Given the description of an element on the screen output the (x, y) to click on. 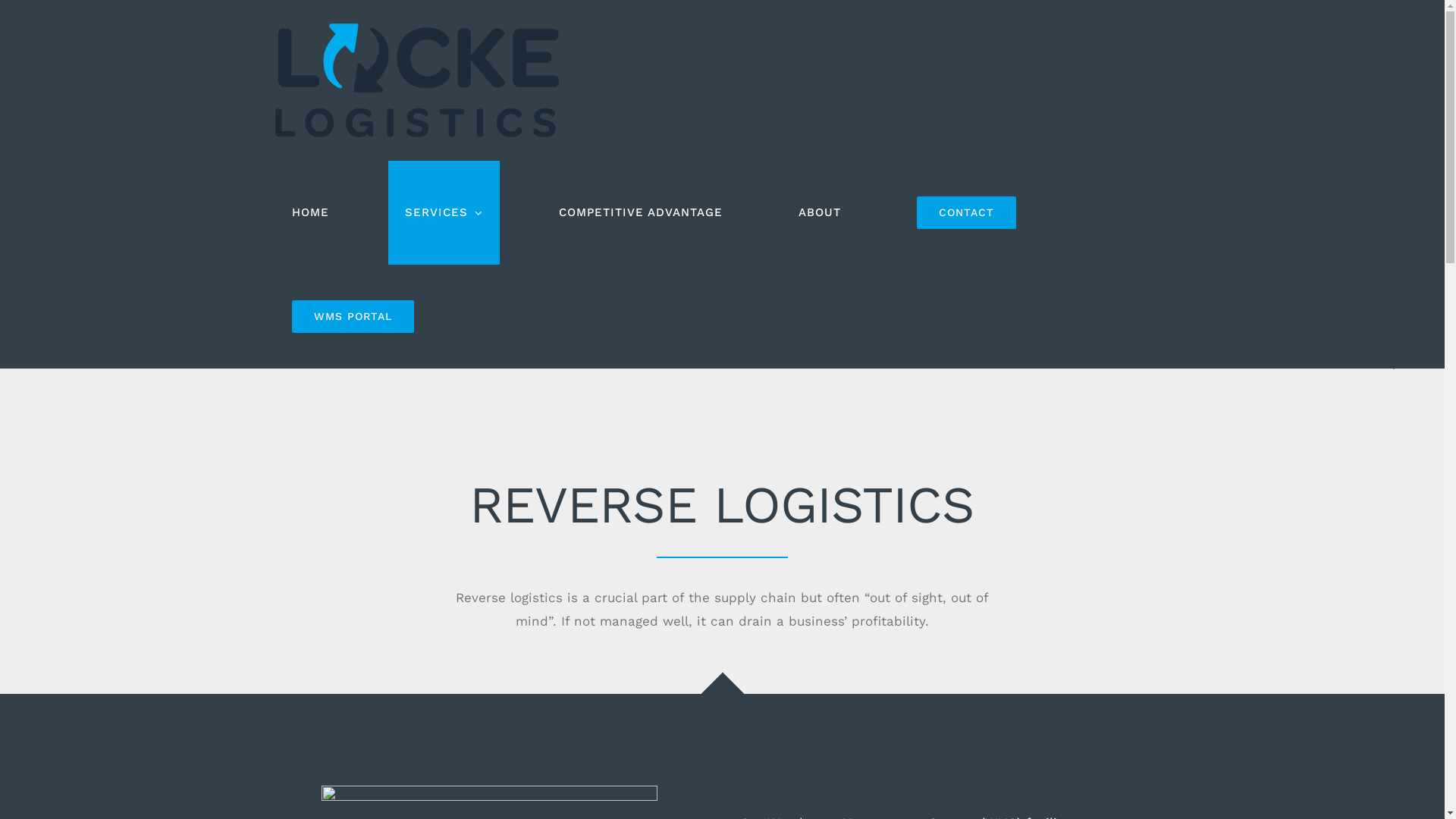
SERVICES Element type: text (443, 212)
CONTACT Element type: text (965, 212)
COMPETITIVE ADVANTAGE Element type: text (639, 212)
Facebook Element type: hover (1382, 175)
More Element type: hover (1382, 335)
Hide Element type: hover (1392, 365)
ABOUT Element type: text (818, 212)
Twitter Element type: hover (1382, 271)
HOME Element type: text (309, 212)
WMS PORTAL Element type: text (351, 316)
Instagram Element type: hover (1382, 239)
Whatsapp Element type: hover (1382, 303)
Linkedin Element type: hover (1382, 207)
